Given the description of an element on the screen output the (x, y) to click on. 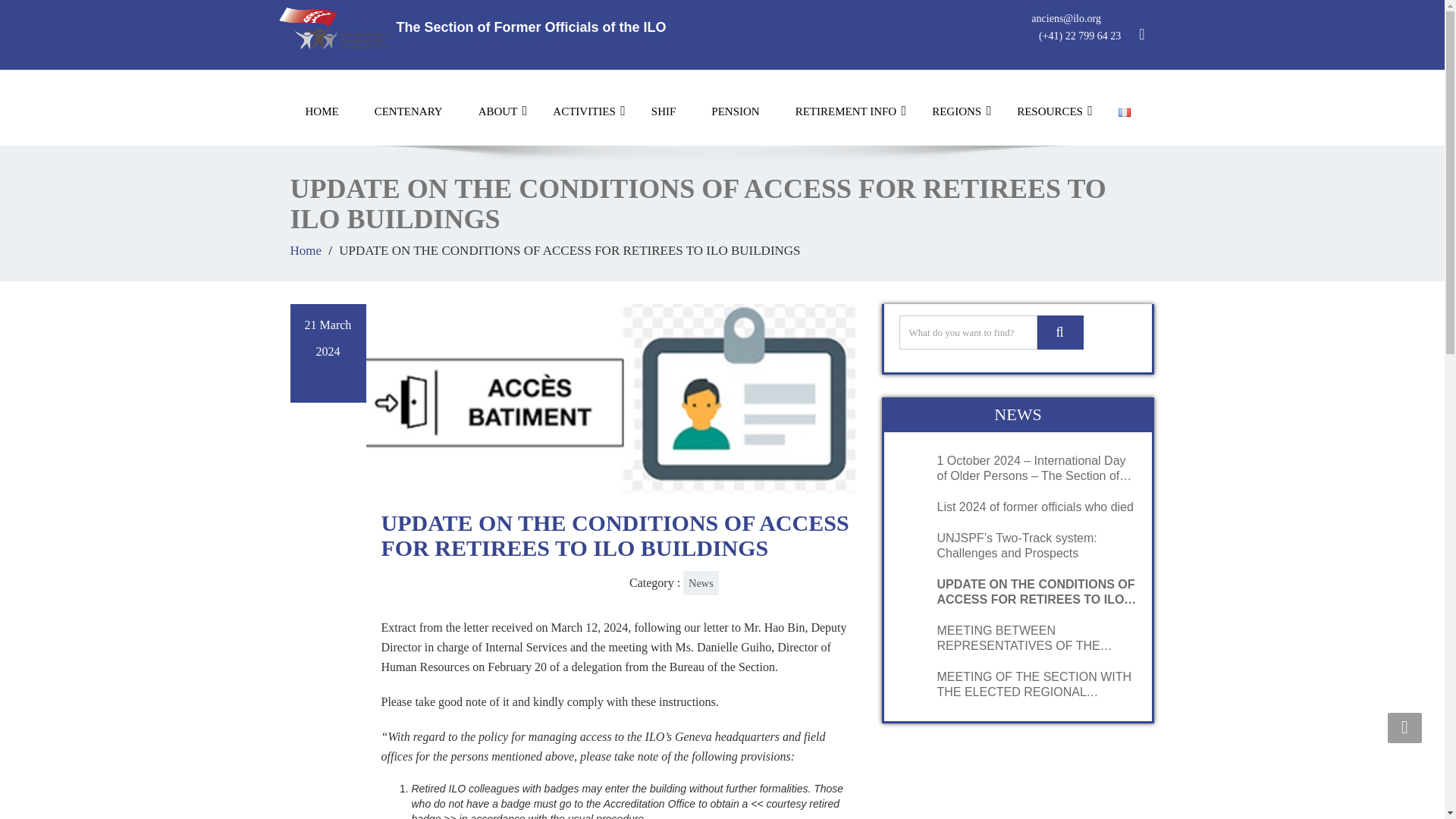
ACTIVITIES (583, 111)
ILO Former Officials (472, 27)
ABOUT (497, 111)
HOME (321, 111)
The Section of Former Officials of the ILO (472, 27)
CENTENARY (408, 111)
Facebook (1144, 35)
Go Top (1404, 727)
